Given the description of an element on the screen output the (x, y) to click on. 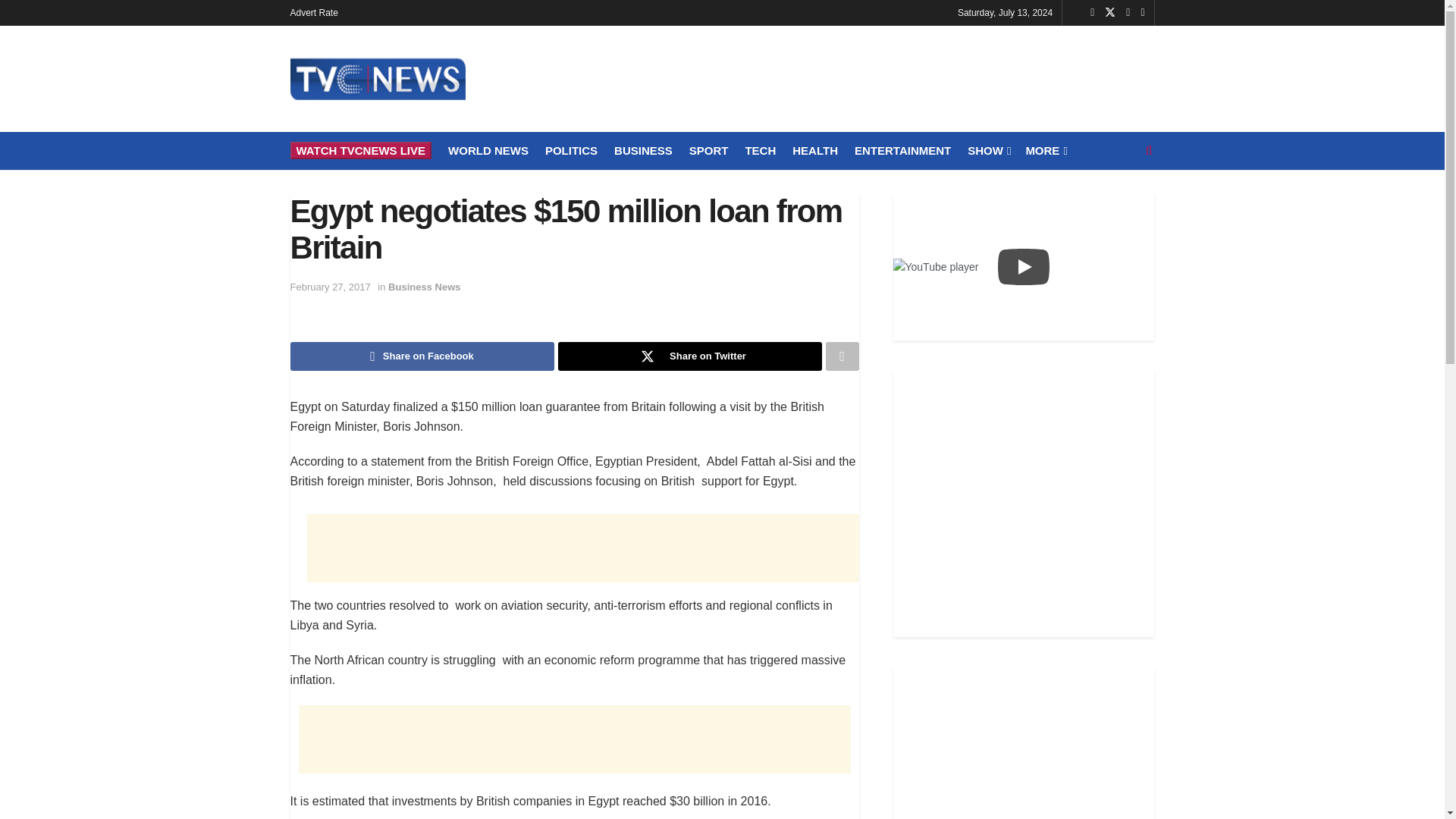
HEALTH (815, 150)
SHOW (988, 150)
WORLD NEWS (488, 150)
WATCH TVCNEWS LIVE (359, 149)
Advert Rate (313, 12)
SPORT (708, 150)
POLITICS (570, 150)
TECH (760, 150)
MORE (1044, 150)
WATCH TVCNEWS LIVE (359, 150)
ENTERTAINMENT (902, 150)
BUSINESS (643, 150)
